Given the description of an element on the screen output the (x, y) to click on. 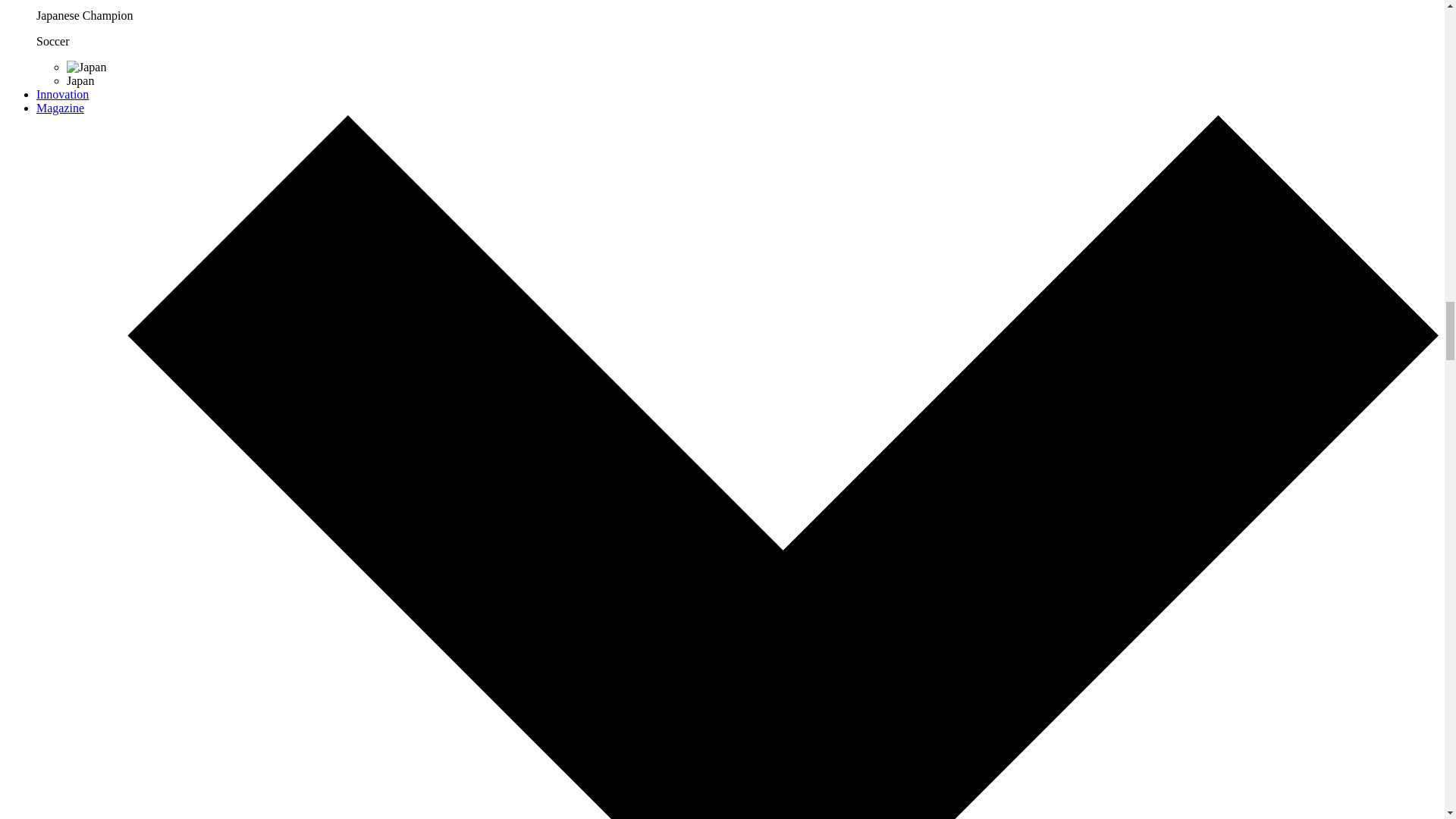
Japan (86, 66)
